Given the description of an element on the screen output the (x, y) to click on. 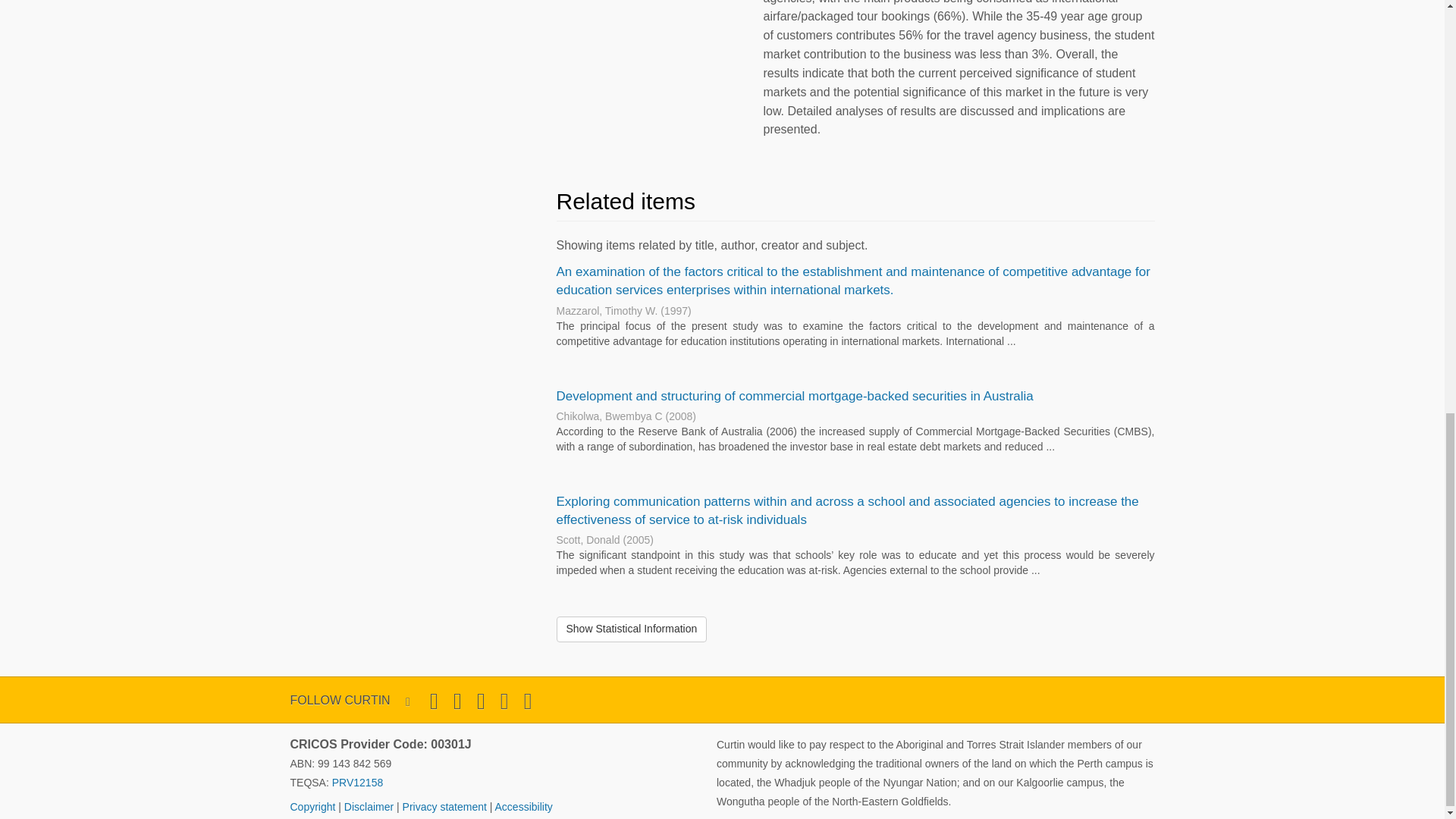
Show Statistical Information (631, 629)
